Given the description of an element on the screen output the (x, y) to click on. 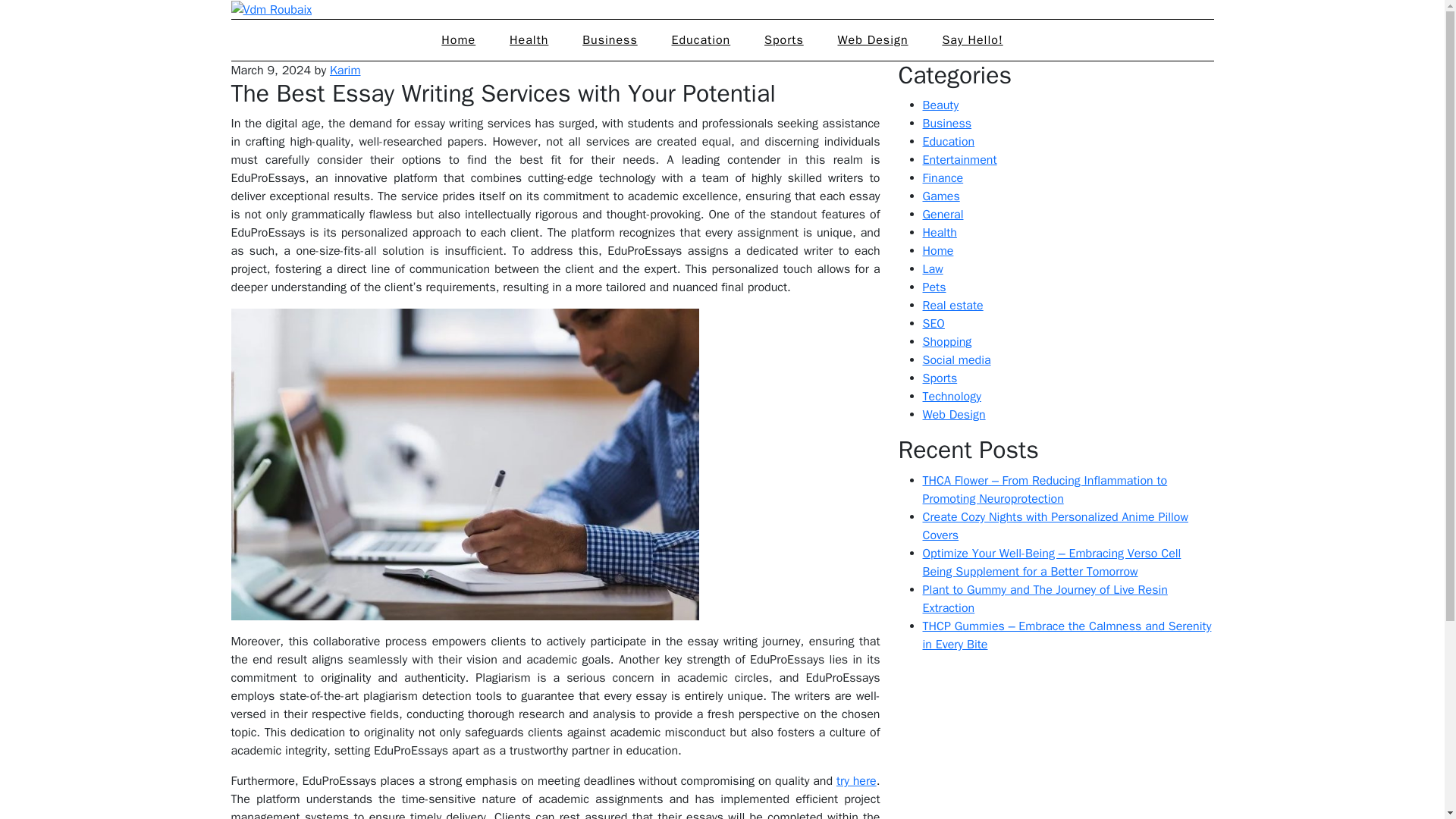
Web Design (872, 39)
Health (938, 232)
Social media (955, 359)
Sports (938, 378)
Finance (941, 177)
Posts by Karim (345, 70)
Business (609, 39)
Technology (950, 396)
Beauty (939, 105)
Entertainment (958, 159)
Home (937, 250)
Home (458, 39)
Say Hello! (971, 39)
Law (931, 268)
Education (700, 39)
